Given the description of an element on the screen output the (x, y) to click on. 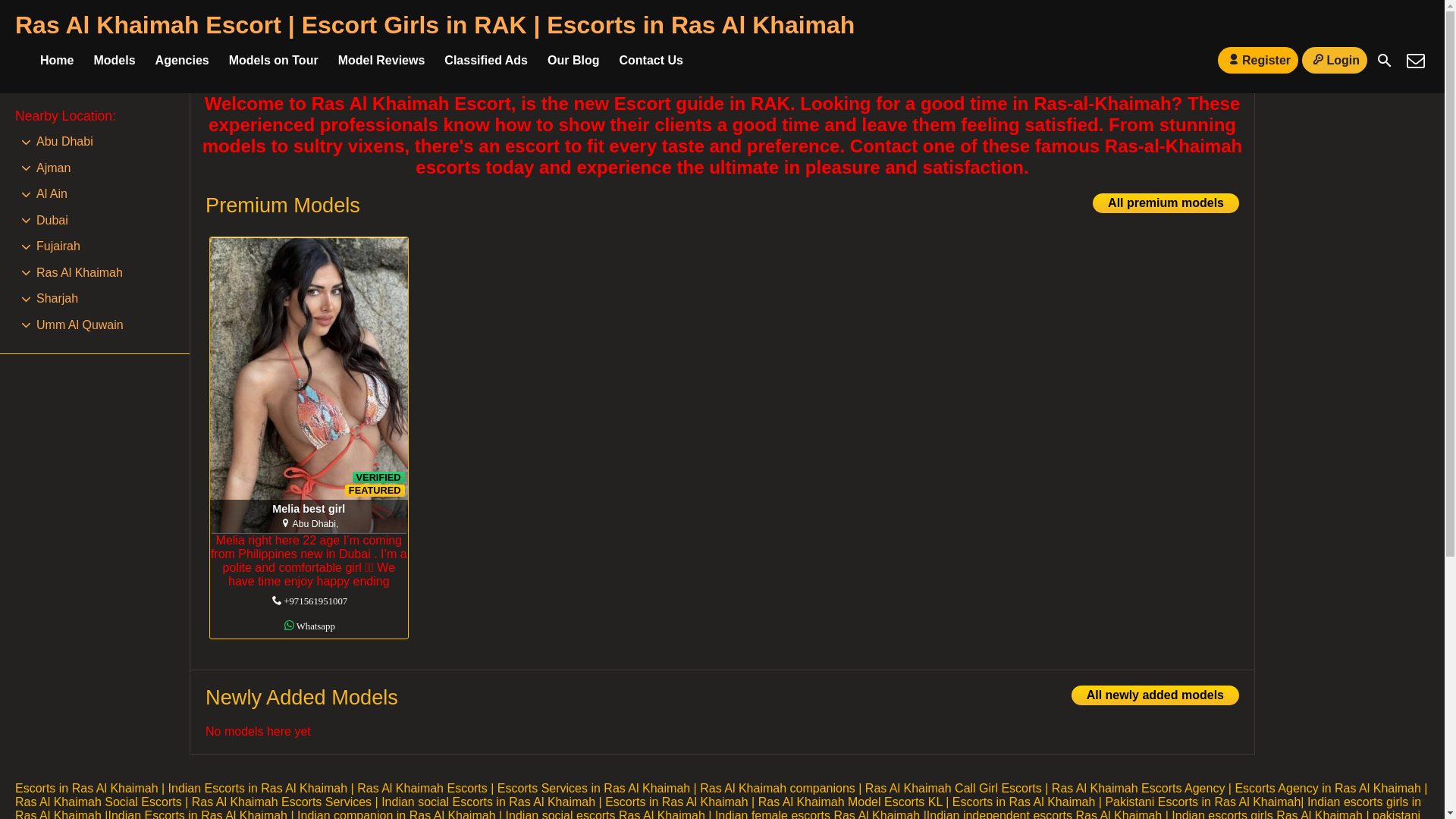
Register (1257, 59)
Melia best girl (308, 385)
Contact Us (650, 60)
All newly added models (1155, 695)
Classified Ads (308, 385)
Ras Al Khaimah (485, 60)
Search (79, 272)
Al Ain (1384, 60)
Melia best girl (51, 193)
Models (309, 509)
Our Blog (113, 60)
Agencies (572, 60)
All premium models (182, 60)
Models on Tour (1166, 202)
